Given the description of an element on the screen output the (x, y) to click on. 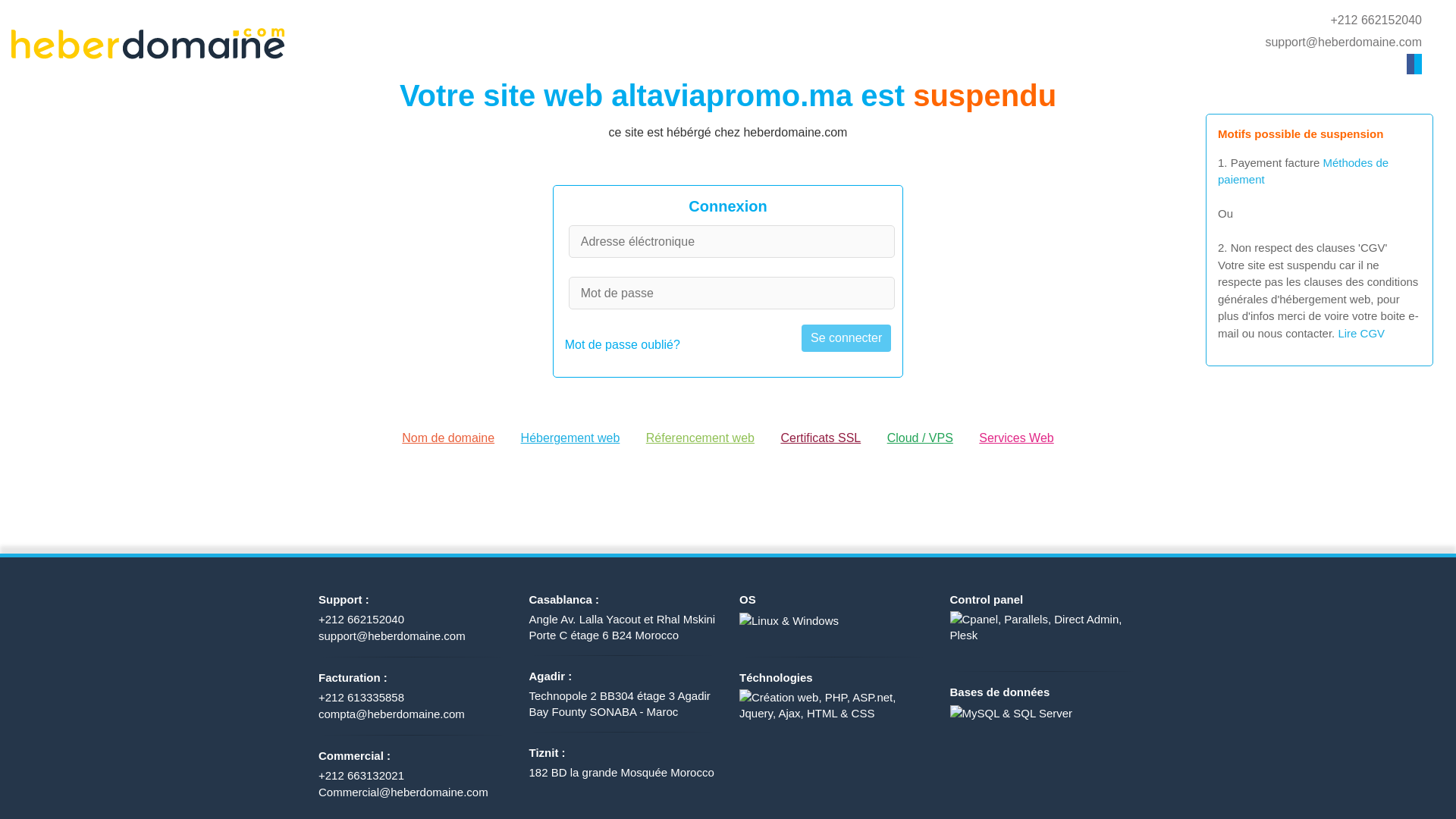
Nom de domaine (448, 438)
Certificats SSL (820, 438)
Lire CGV (1361, 332)
Se connecter (846, 338)
Services Web (1016, 438)
